Given the description of an element on the screen output the (x, y) to click on. 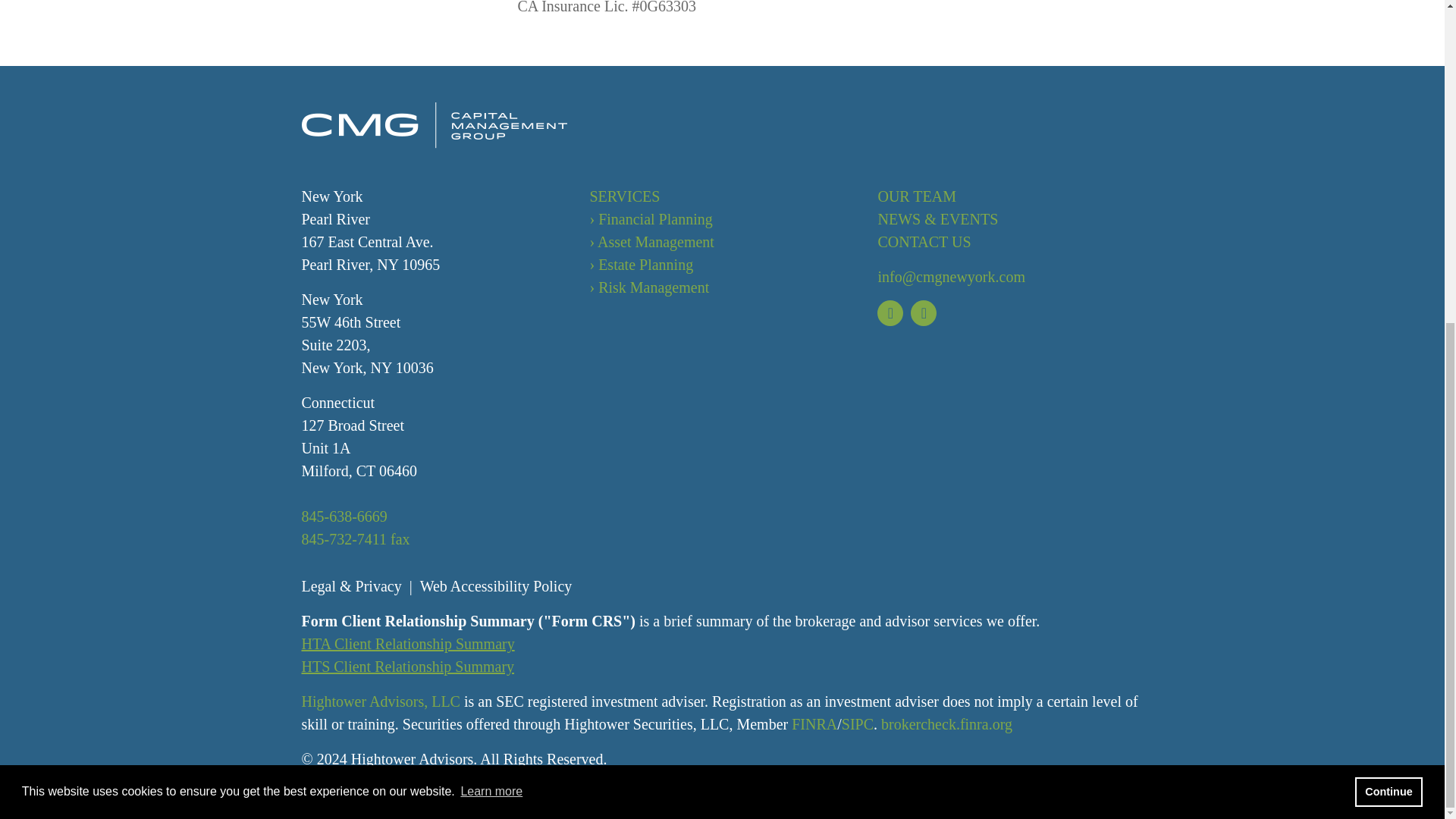
Learn more (491, 264)
Continue (1388, 265)
845-732-7411 fax (355, 538)
SERVICES (624, 196)
CONTACT US (924, 241)
845-638-6669 (344, 515)
OUR TEAM (916, 196)
